Given the description of an element on the screen output the (x, y) to click on. 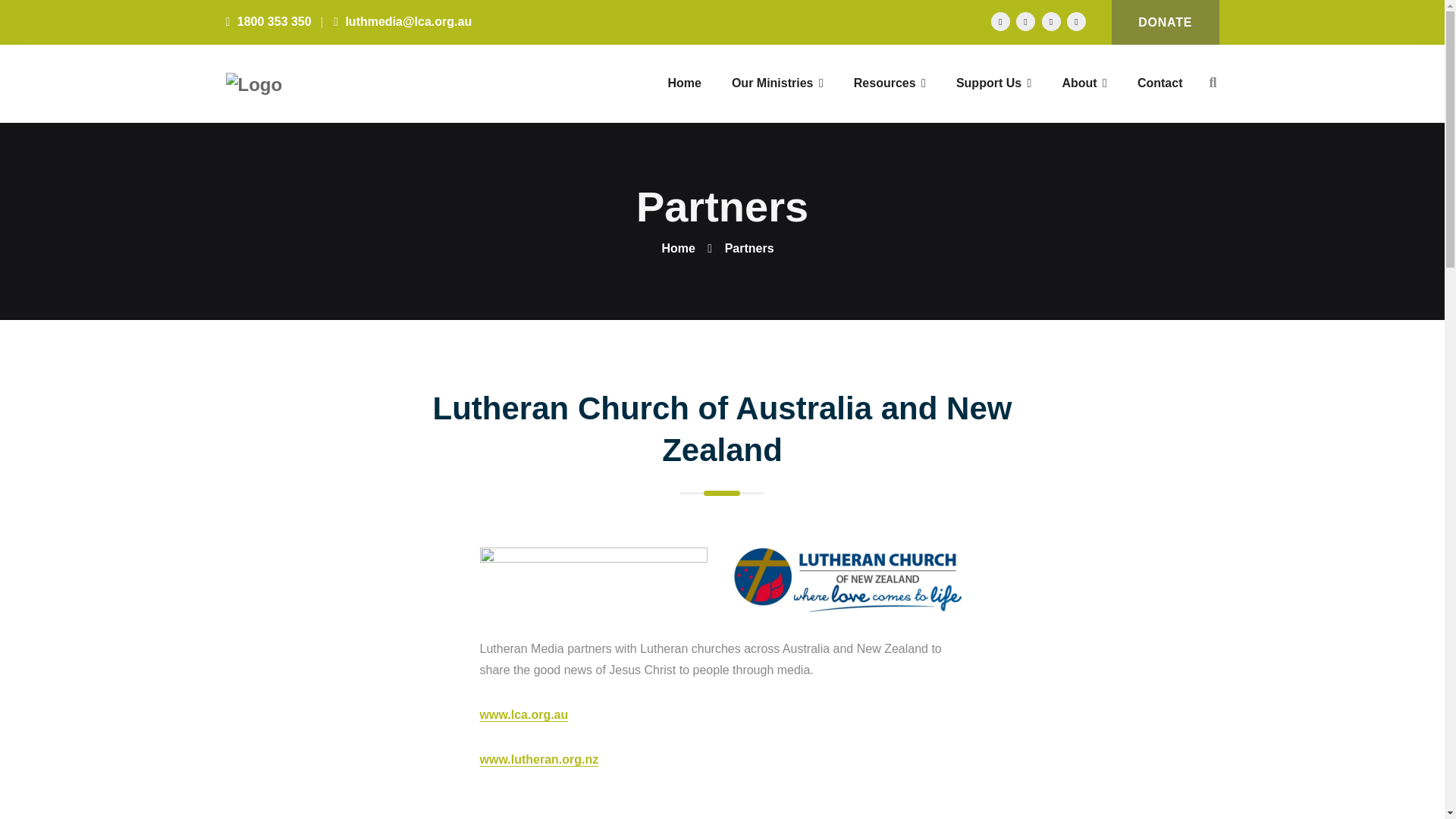
Resources Element type: text (889, 83)
Our Ministries Element type: text (777, 83)
Home Element type: text (677, 247)
luthmedia@lca.org.au Element type: text (402, 21)
www.lutheran.org.nz Element type: text (538, 759)
Contact Element type: text (1160, 83)
About Element type: text (1084, 83)
Support Us Element type: text (994, 83)
DONATE Element type: text (1165, 22)
Home Element type: text (683, 83)
www.lca.org.au Element type: text (523, 714)
1800 353 350 Element type: text (268, 21)
